Given the description of an element on the screen output the (x, y) to click on. 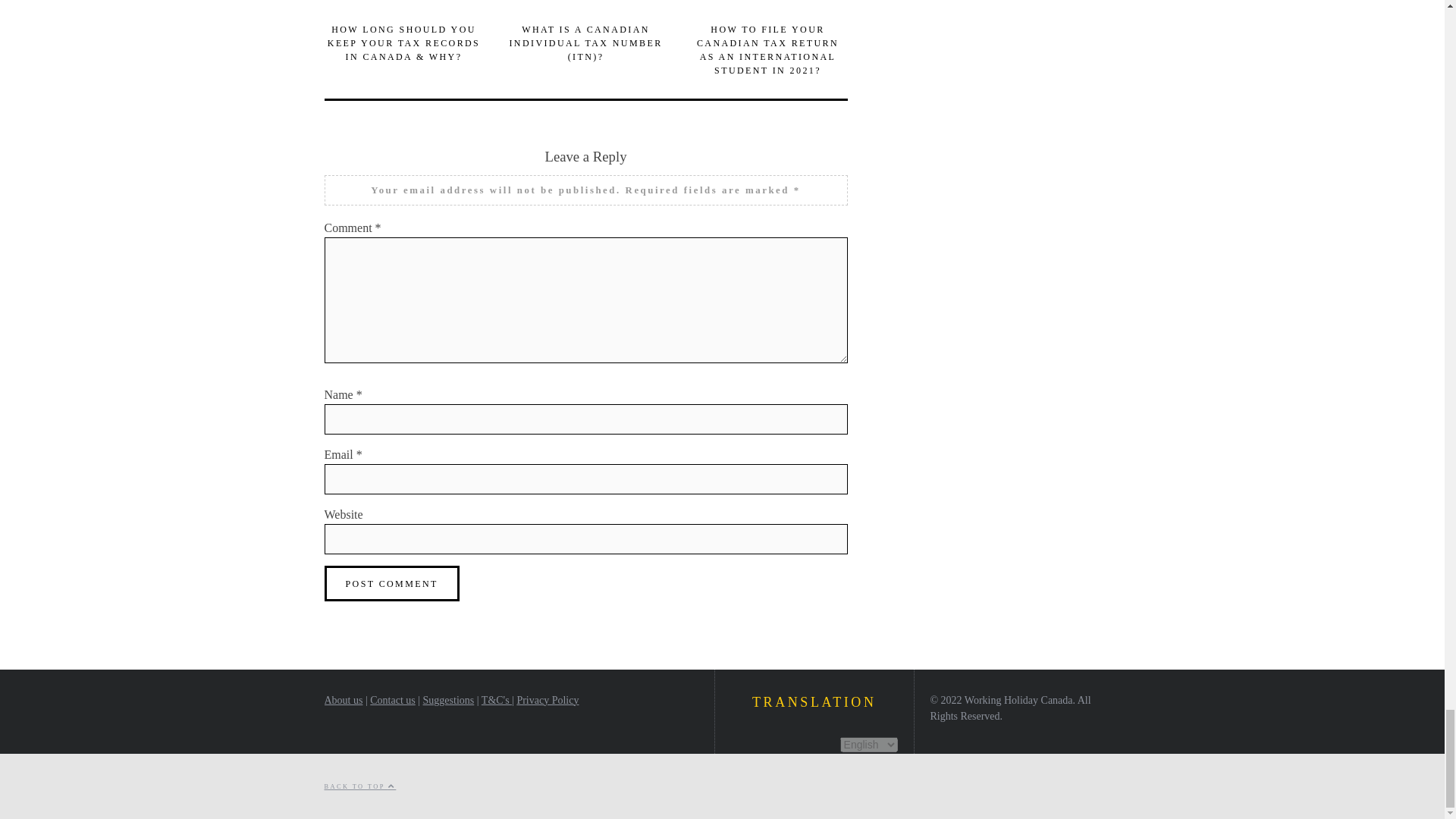
Post Comment (392, 583)
